Given the description of an element on the screen output the (x, y) to click on. 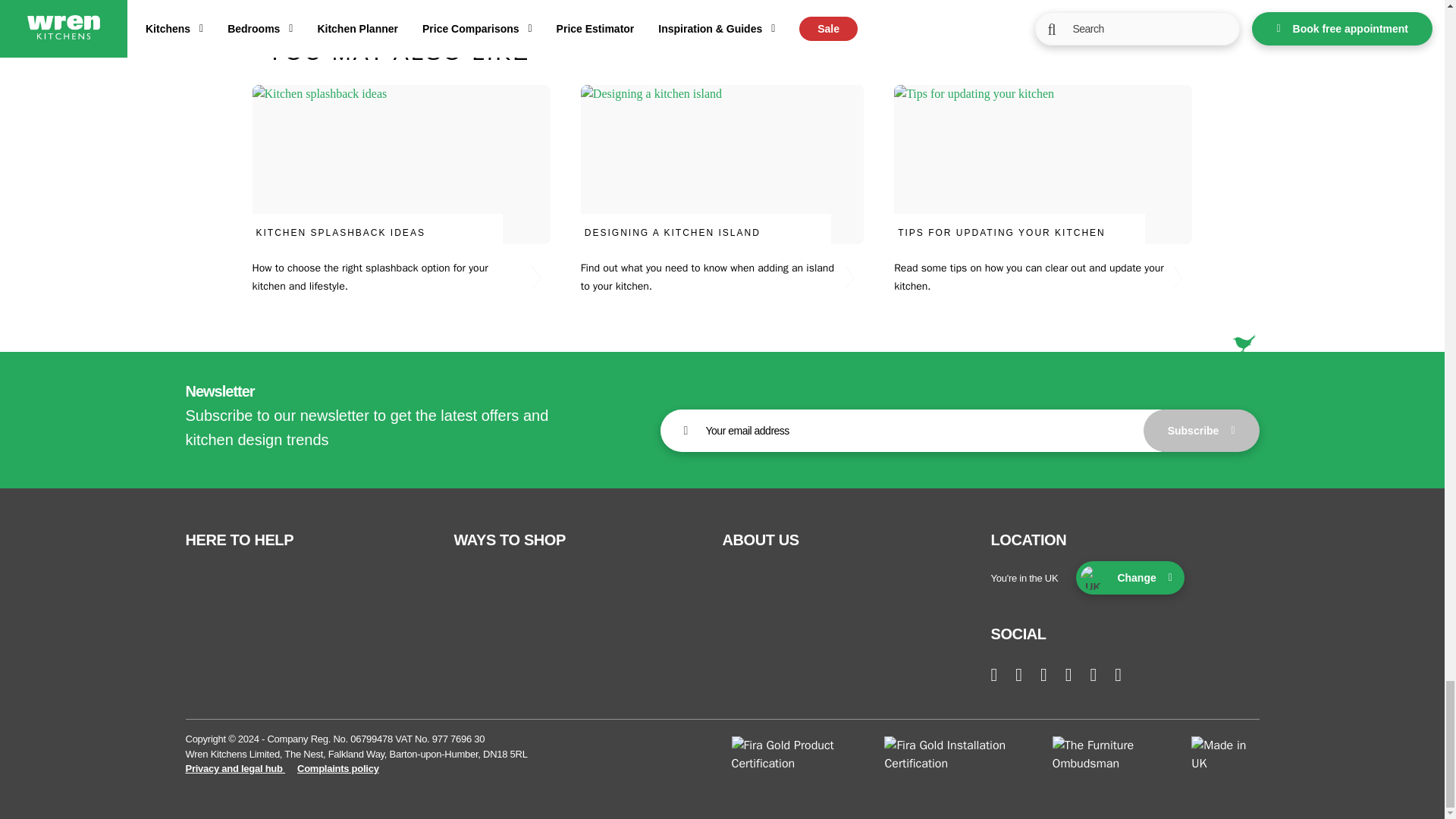
Kitchen splashback ideas (407, 190)
Designing a kitchen island  (722, 190)
Tips for updating your kitchen (1035, 190)
